Given the description of an element on the screen output the (x, y) to click on. 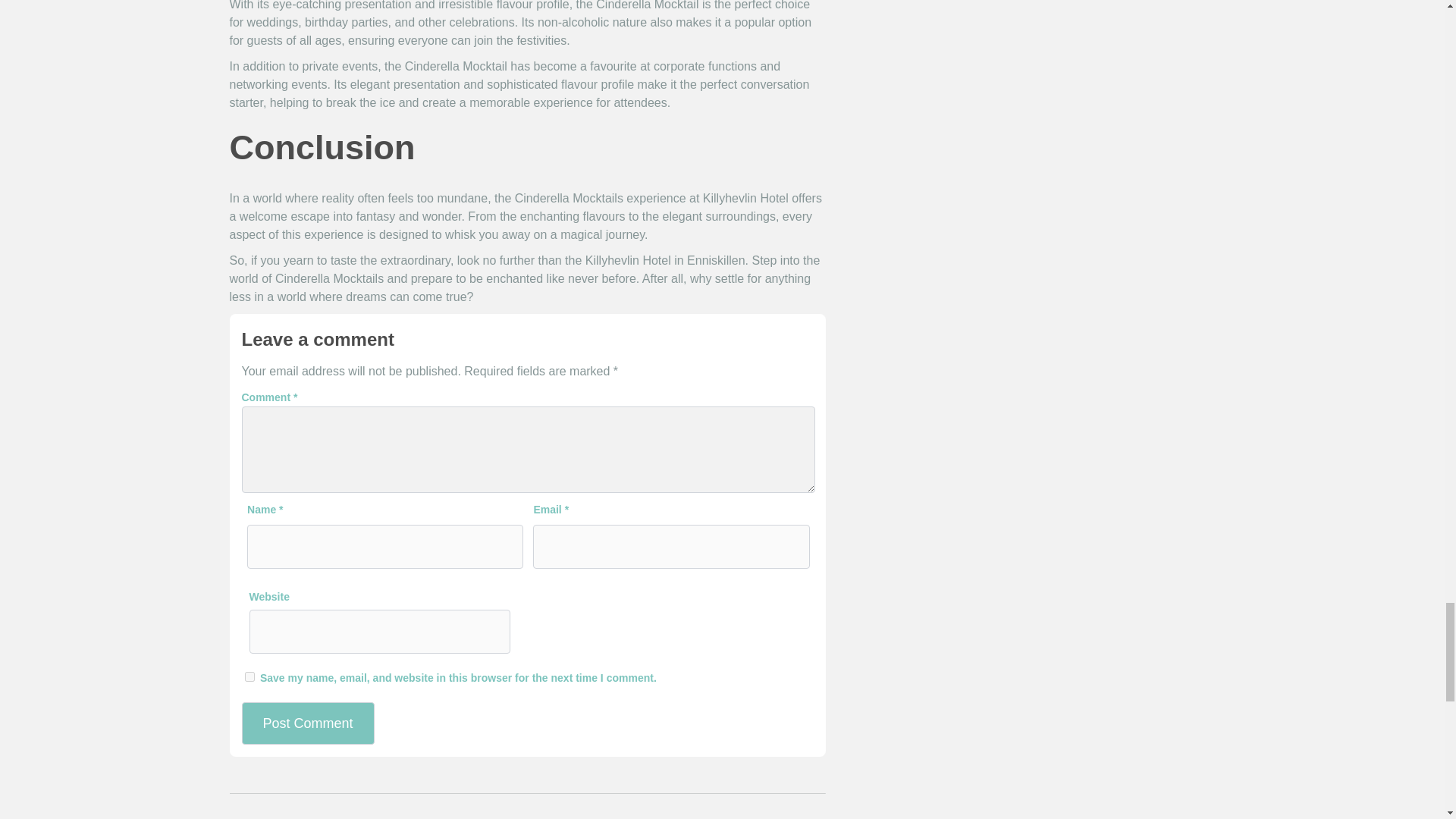
yes (248, 676)
Post Comment (307, 722)
